Given the description of an element on the screen output the (x, y) to click on. 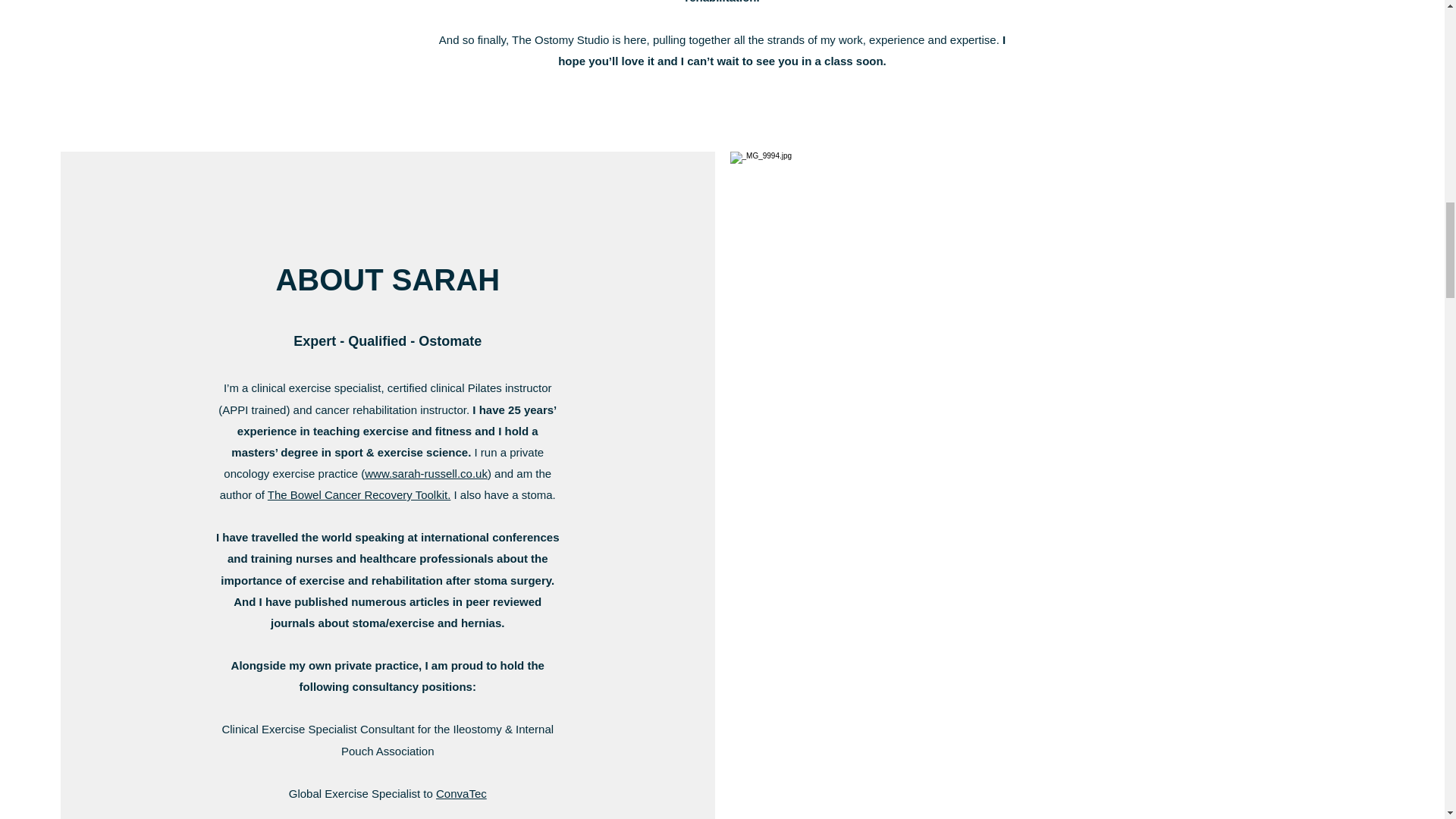
The Bowel Cancer Recovery Toolkit. (359, 494)
ConvaTec (460, 793)
www.sarah-russell.co.uk (426, 472)
